Given the description of an element on the screen output the (x, y) to click on. 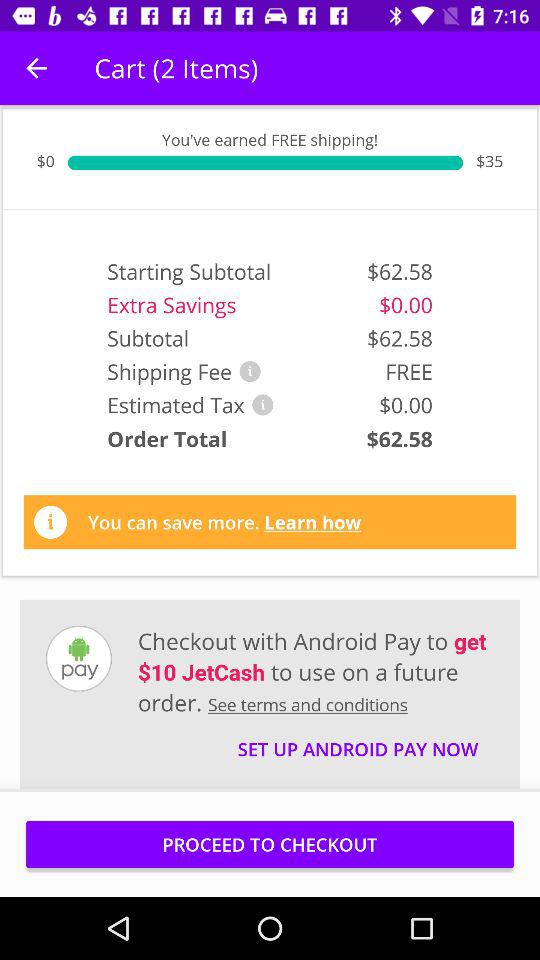
turn on icon below the order total icon (224, 522)
